Given the description of an element on the screen output the (x, y) to click on. 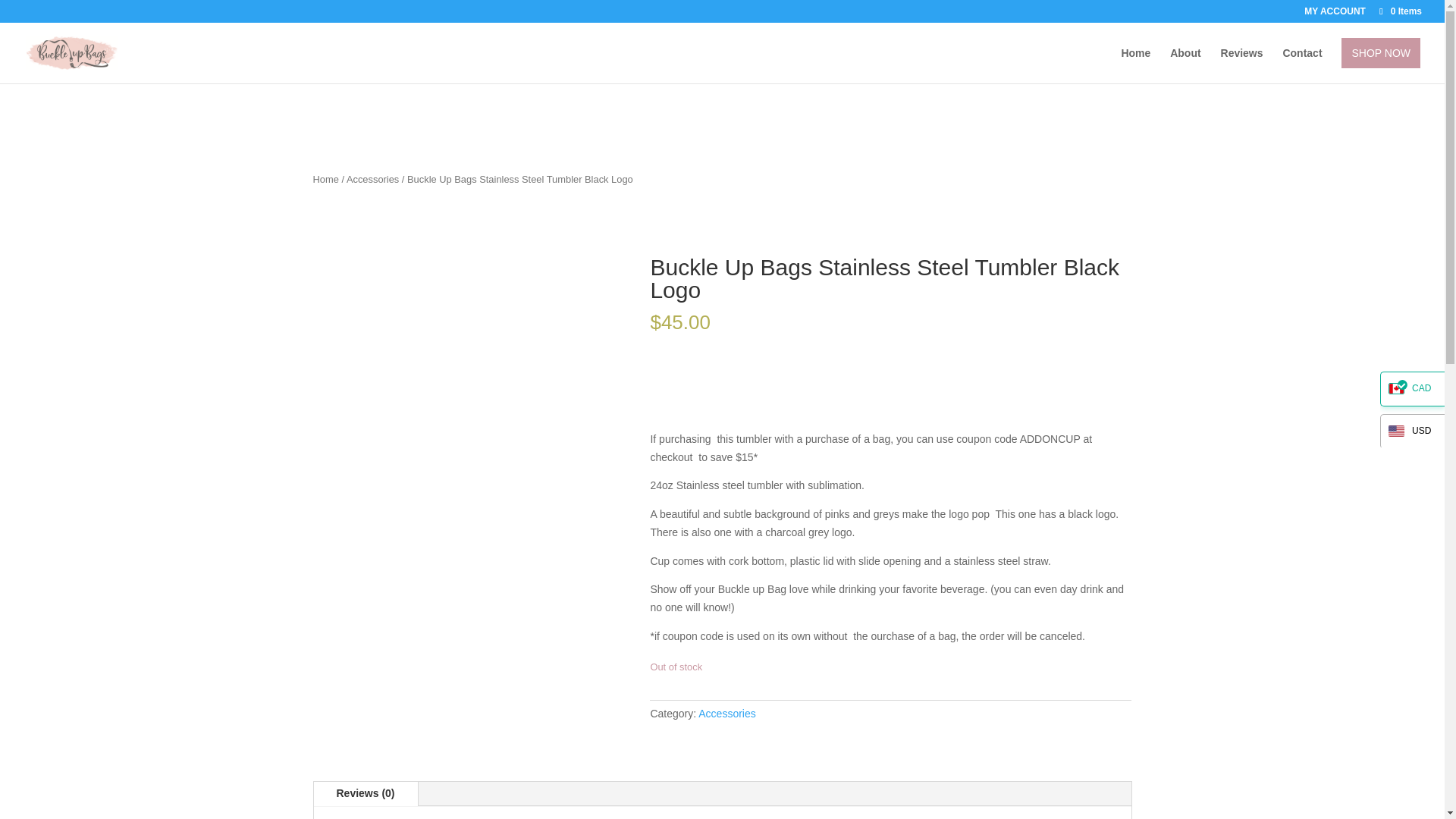
SHOP NOW (1380, 52)
0 Items (1399, 10)
Reviews (1242, 65)
Accessories (372, 179)
Contact (1302, 65)
MY ACCOUNT (1334, 14)
Accessories (726, 713)
Home (325, 179)
